Given the description of an element on the screen output the (x, y) to click on. 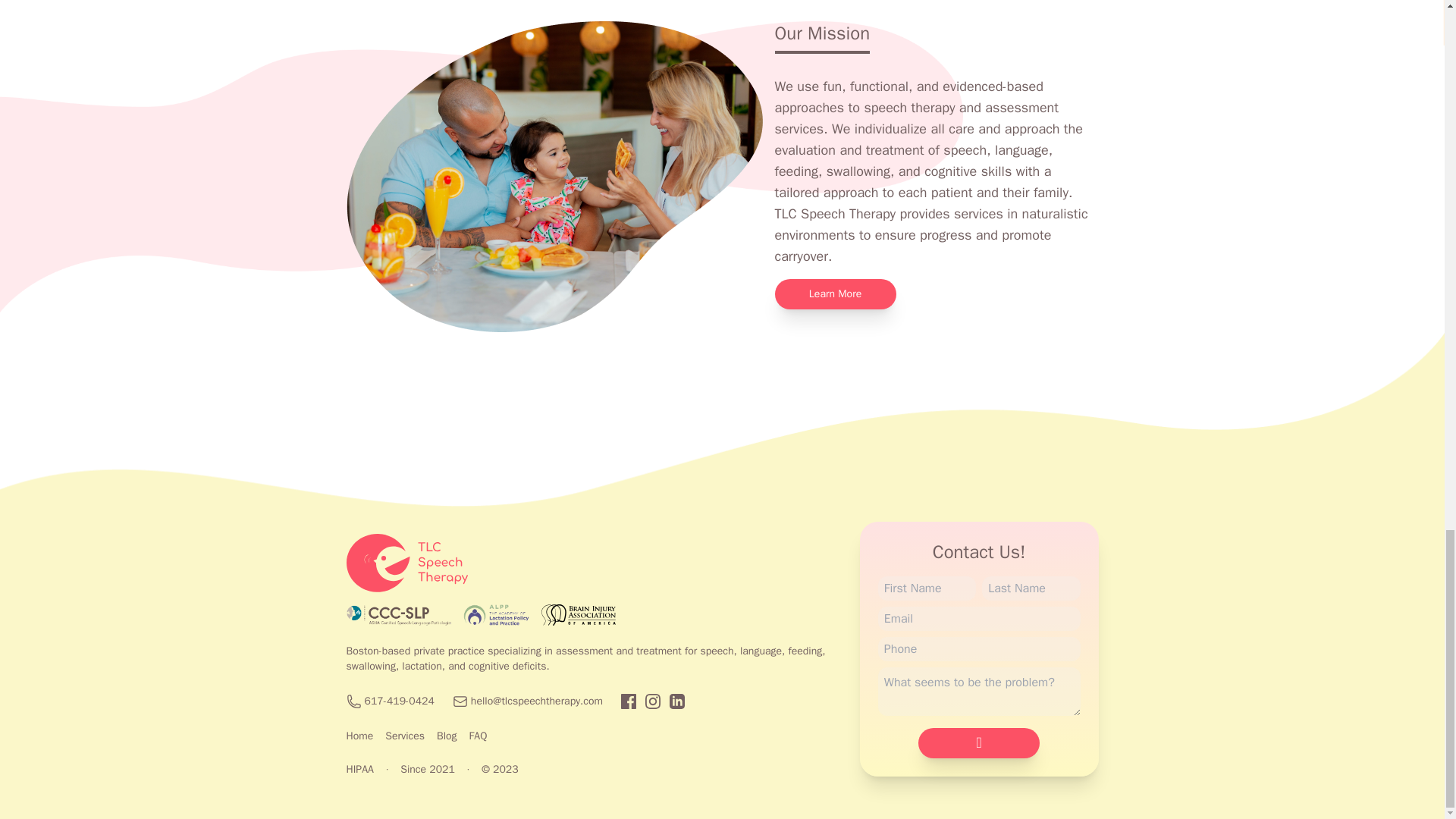
Blog (446, 735)
FAQ (477, 735)
HIPAA (359, 769)
617-419-0424 (398, 701)
Learn More (835, 294)
Home (359, 735)
Services (405, 735)
